Given the description of an element on the screen output the (x, y) to click on. 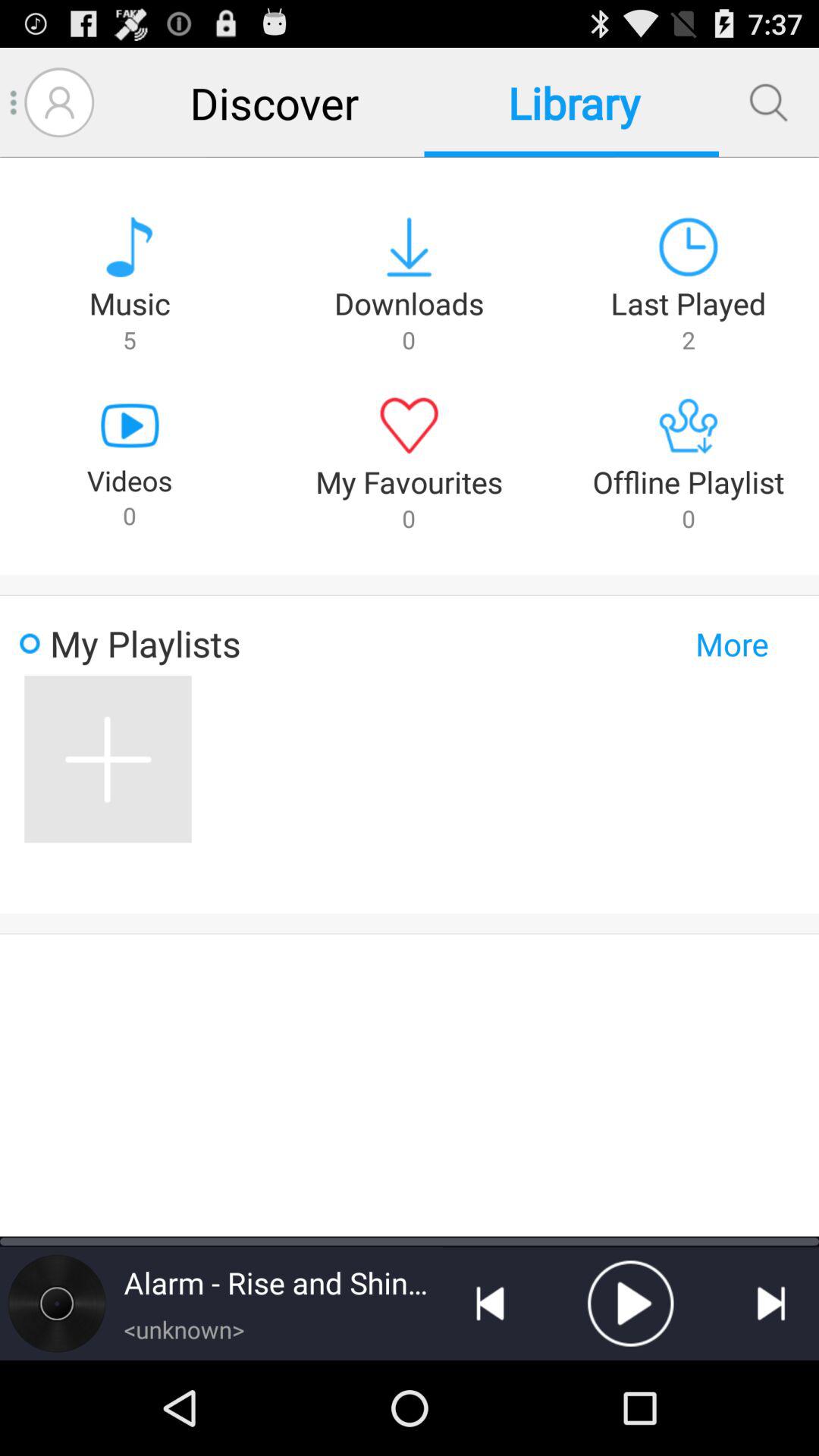
search files (768, 102)
